Given the description of an element on the screen output the (x, y) to click on. 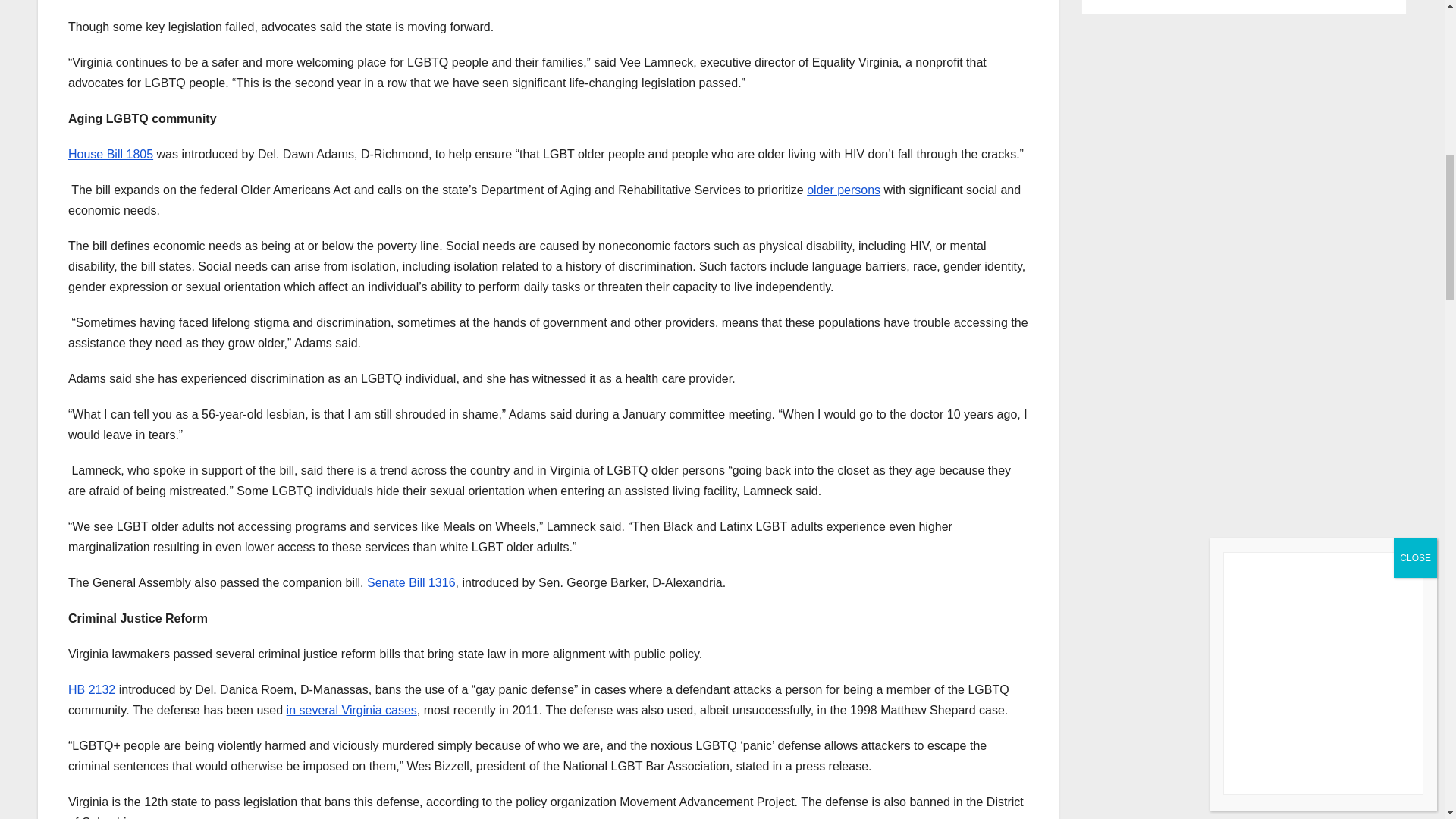
Senate Bill 1316 (410, 582)
HB 2132 (91, 689)
House Bill 1805 (110, 154)
in several Virginia cases (351, 709)
older persons (843, 189)
